Given the description of an element on the screen output the (x, y) to click on. 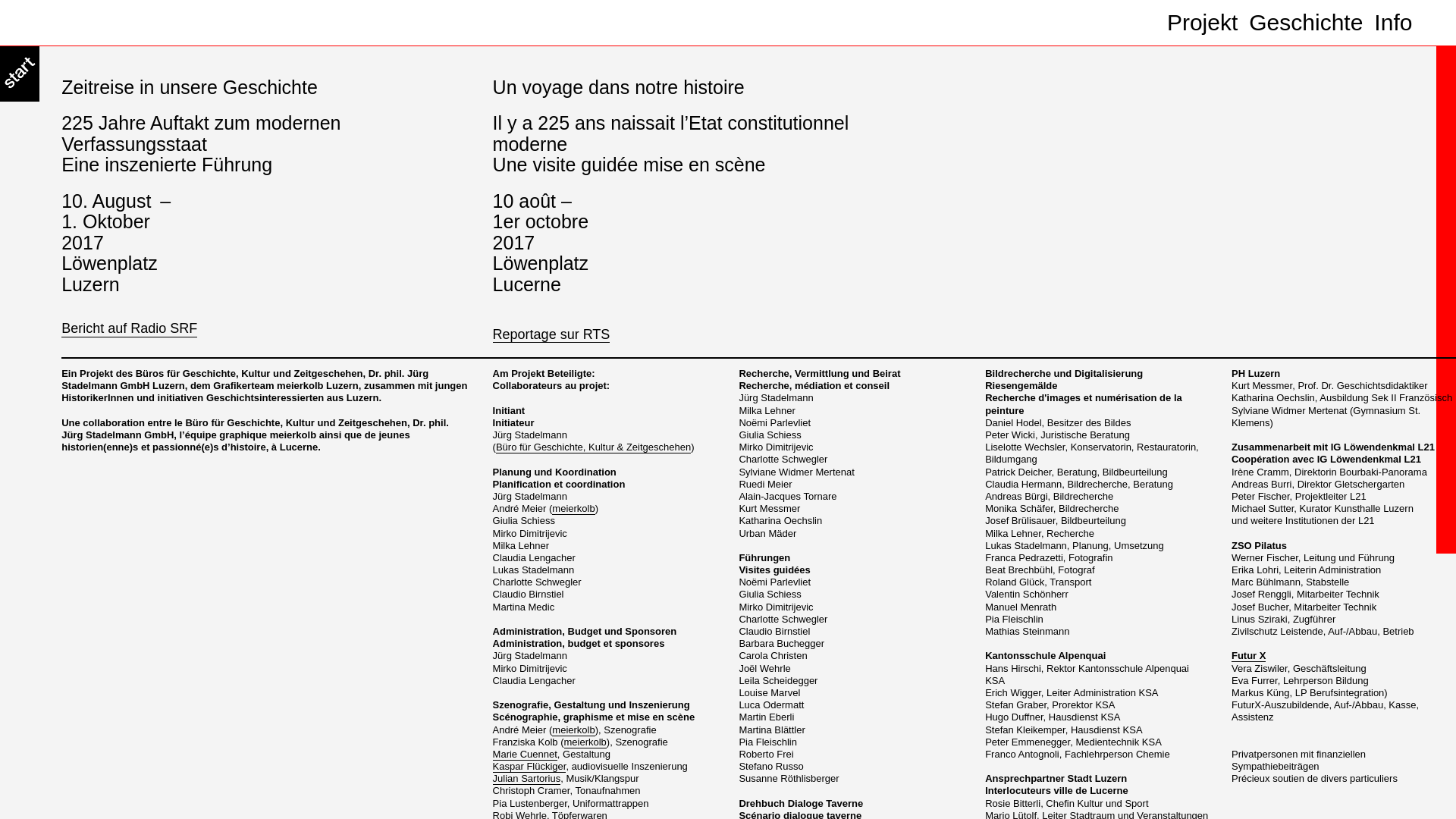
Projekt Element type: text (1202, 21)
Marie Cuennet Element type: text (524, 754)
Bericht auf Radio SRF Element type: text (129, 326)
meierkolb Element type: text (573, 508)
meierkolb Element type: text (585, 742)
Julian Sartorius Element type: text (526, 778)
Geschichte Element type: text (1305, 21)
Info Element type: text (1393, 21)
Reportage sur RTS Element type: text (551, 334)
meierkolb Element type: text (573, 729)
Futur X Element type: text (1248, 655)
